Given the description of an element on the screen output the (x, y) to click on. 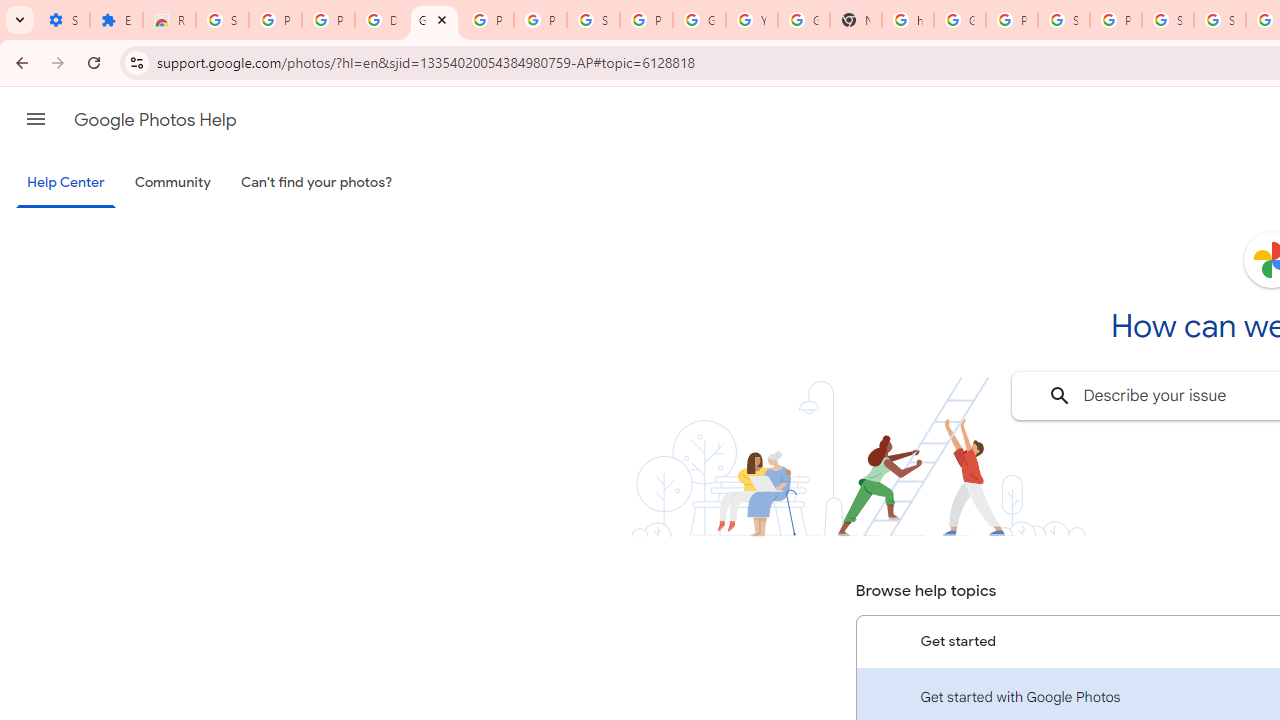
https://scholar.google.com/ (907, 20)
Main menu (35, 119)
Sign in - Google Accounts (1064, 20)
Sign in - Google Accounts (1167, 20)
Delete photos & videos - Computer - Google Photos Help (381, 20)
Extensions (116, 20)
Community (171, 183)
